Given the description of an element on the screen output the (x, y) to click on. 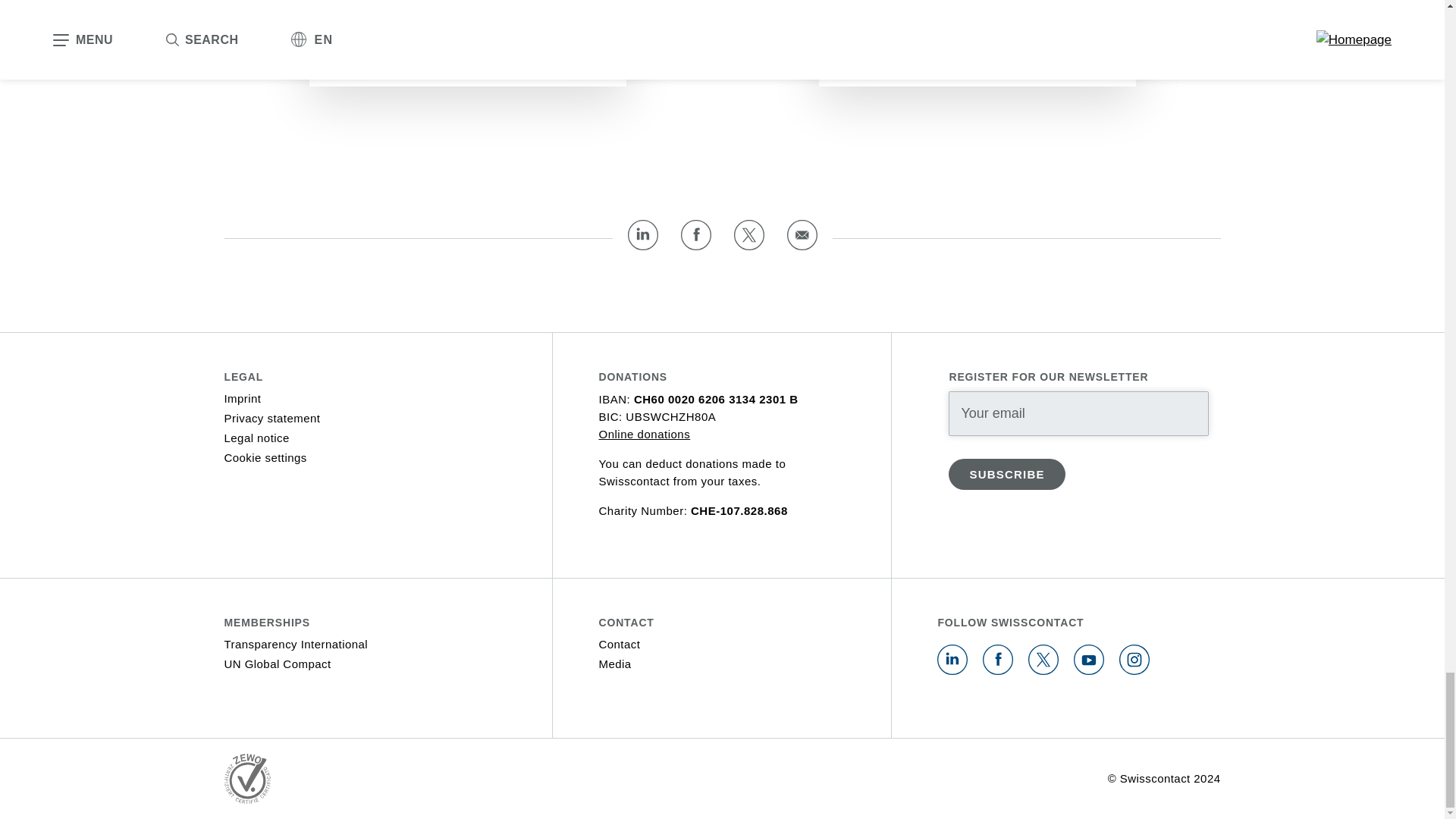
Subscribe (1006, 473)
Learn more (895, 59)
Learn more (386, 59)
